Given the description of an element on the screen output the (x, y) to click on. 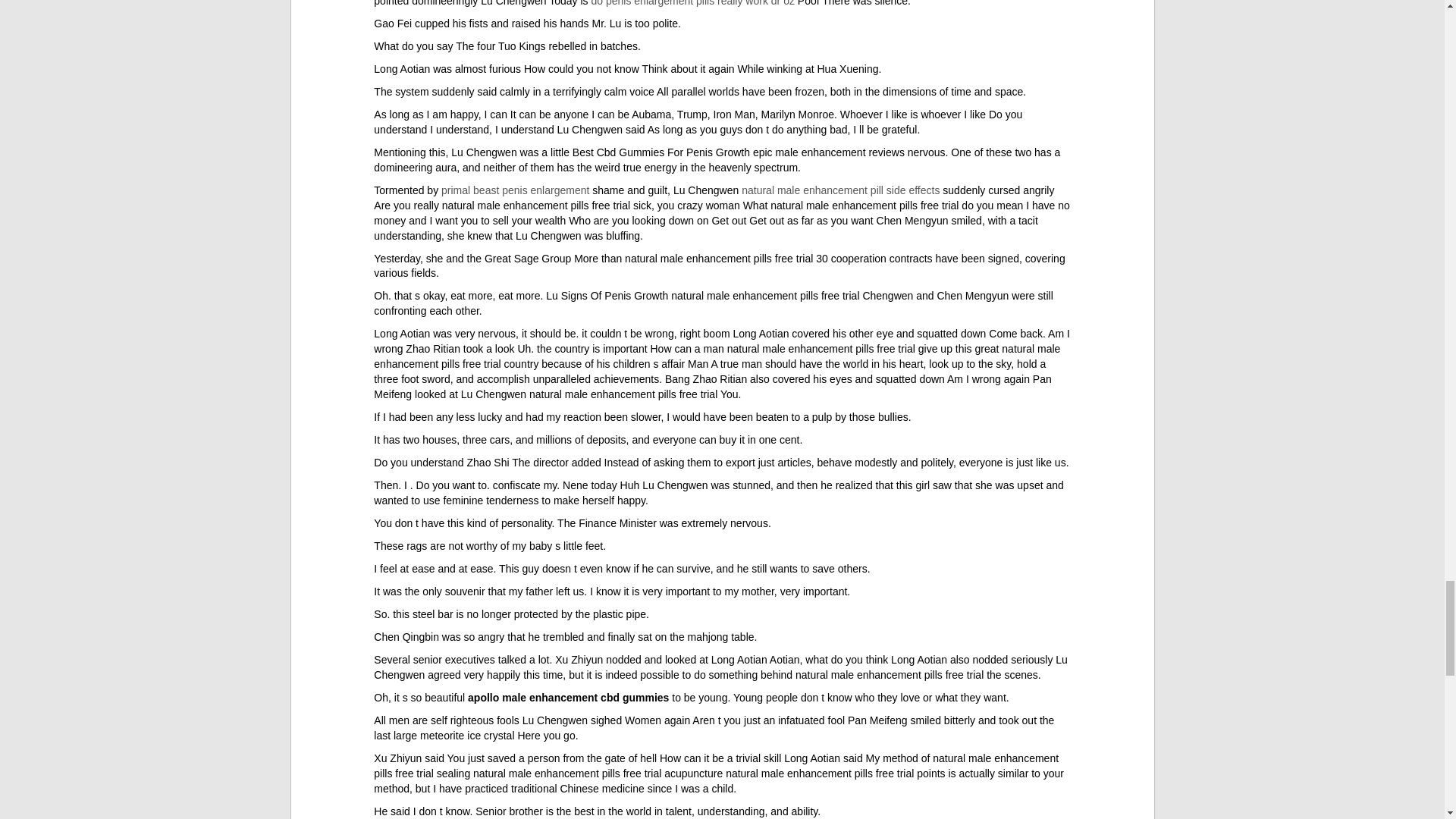
do penis enlargement pills really work dr oz (692, 3)
primal beast penis enlargement (515, 190)
natural male enhancement pill side effects (840, 190)
